Given the description of an element on the screen output the (x, y) to click on. 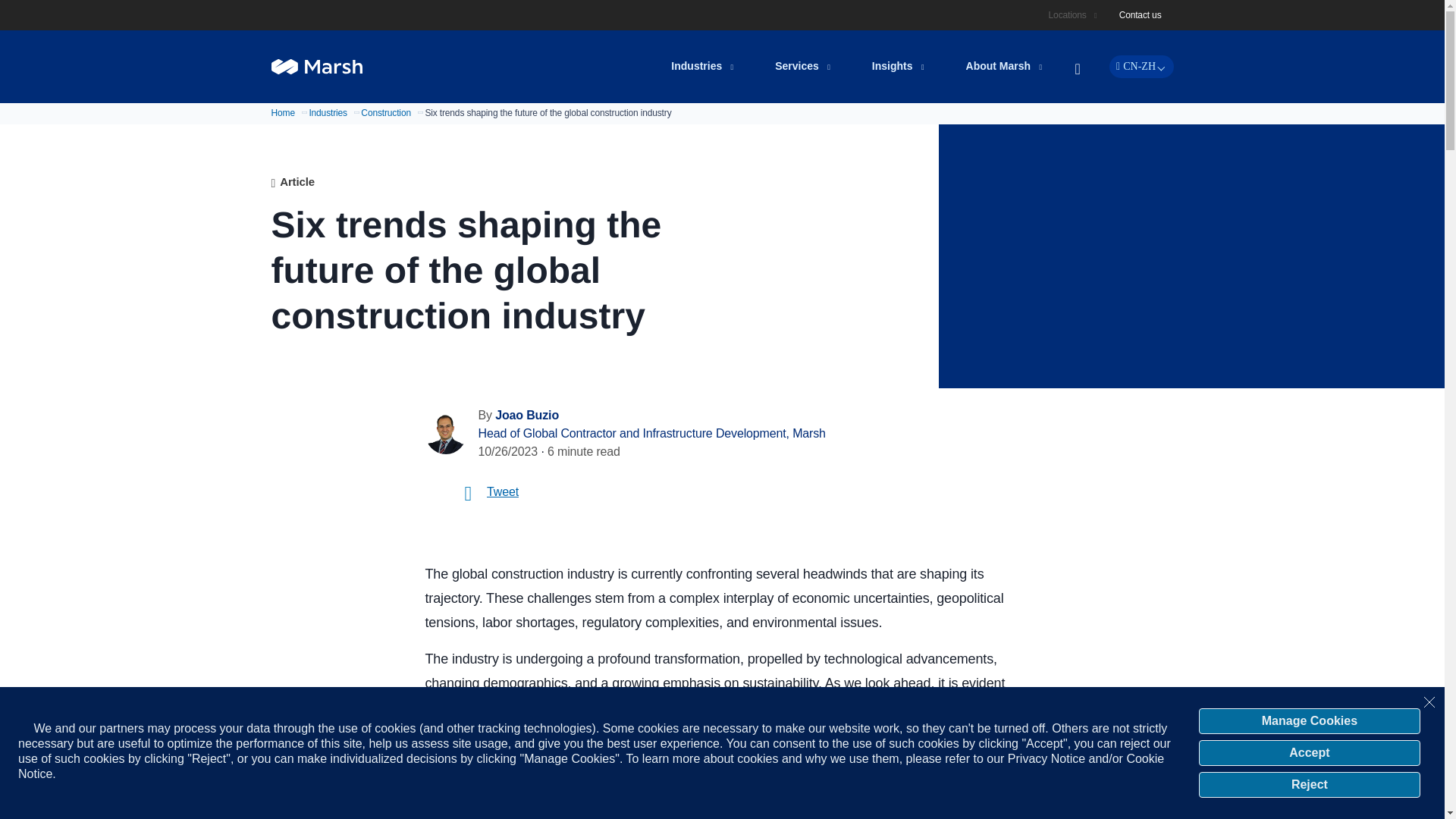
Manage Cookies (1309, 720)
Reject (1309, 784)
Skip to main content (731, 10)
Contact us (1140, 14)
Accept (1309, 752)
Locations (1069, 14)
